Given the description of an element on the screen output the (x, y) to click on. 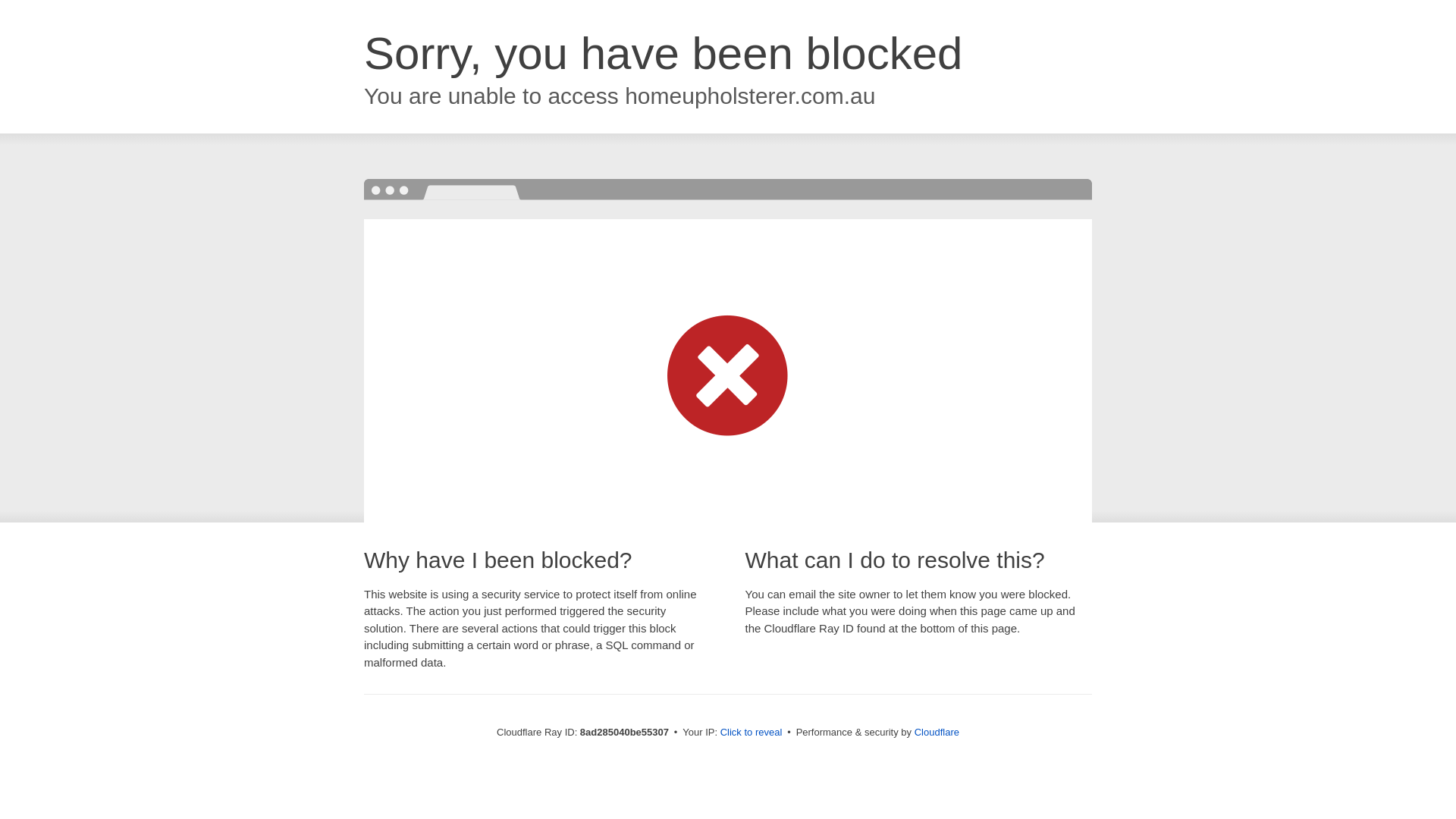
Cloudflare (936, 731)
Click to reveal (751, 732)
